Given the description of an element on the screen output the (x, y) to click on. 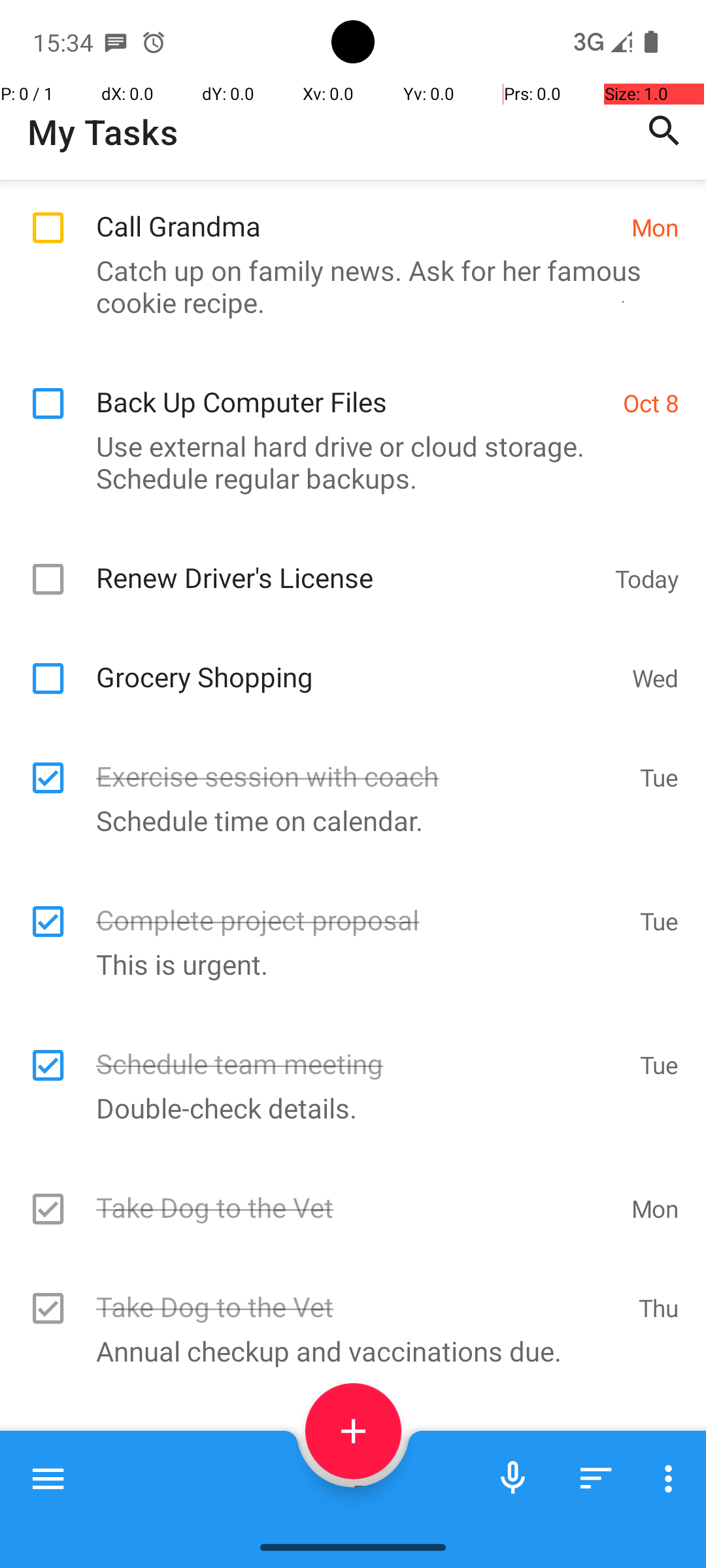
Exercise session with coach Element type: android.widget.TextView (361, 761)
Schedule time on calendar. Element type: android.widget.TextView (346, 819)
Complete project proposal Element type: android.widget.TextView (361, 905)
This is urgent. Element type: android.widget.TextView (346, 963)
Schedule team meeting Element type: android.widget.TextView (361, 1049)
Double-check details. Element type: android.widget.TextView (346, 1107)
